Given the description of an element on the screen output the (x, y) to click on. 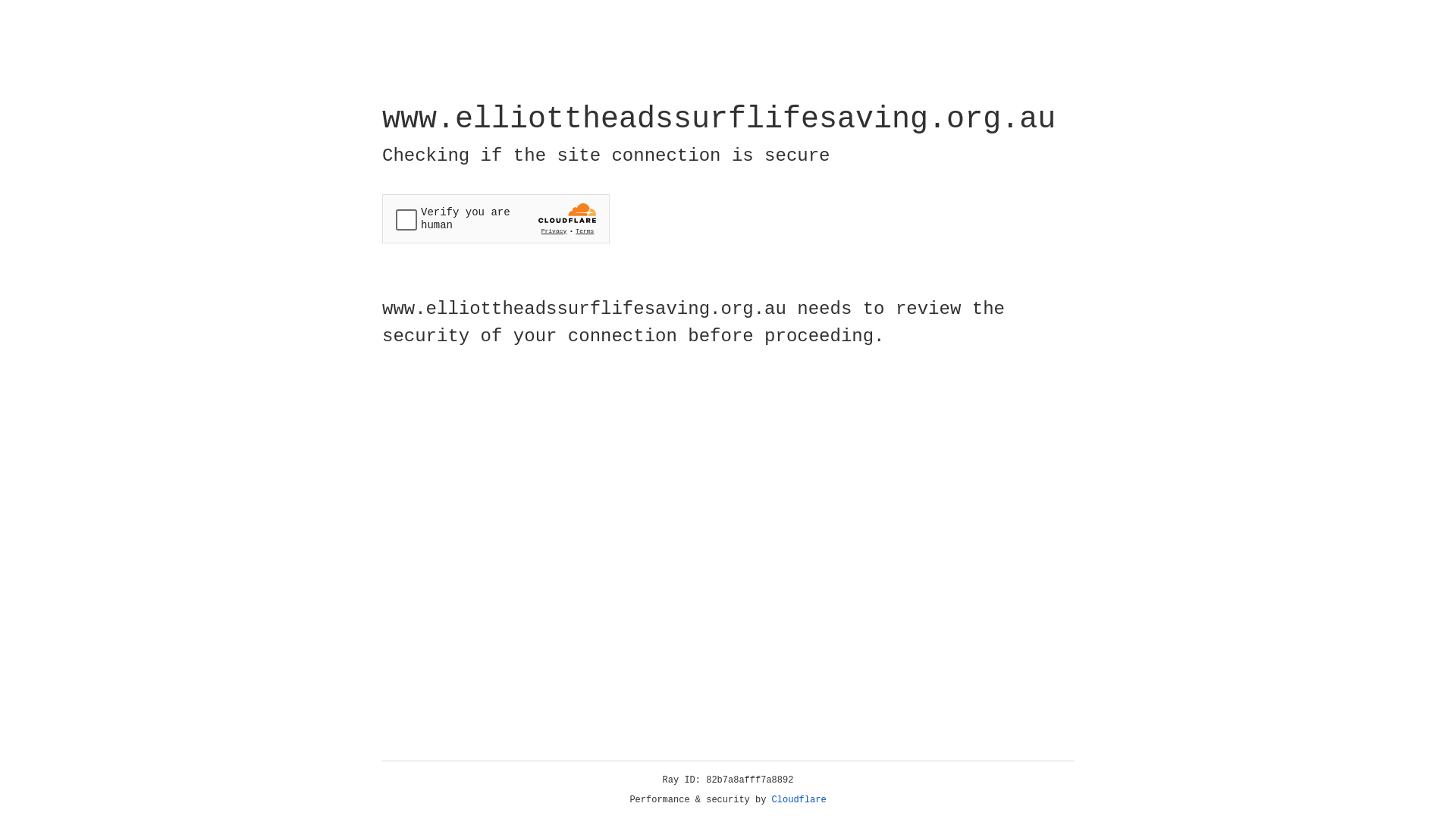
Widget containing a Cloudflare security challenge Element type: hover (495, 218)
Cloudflare Element type: text (798, 799)
